Given the description of an element on the screen output the (x, y) to click on. 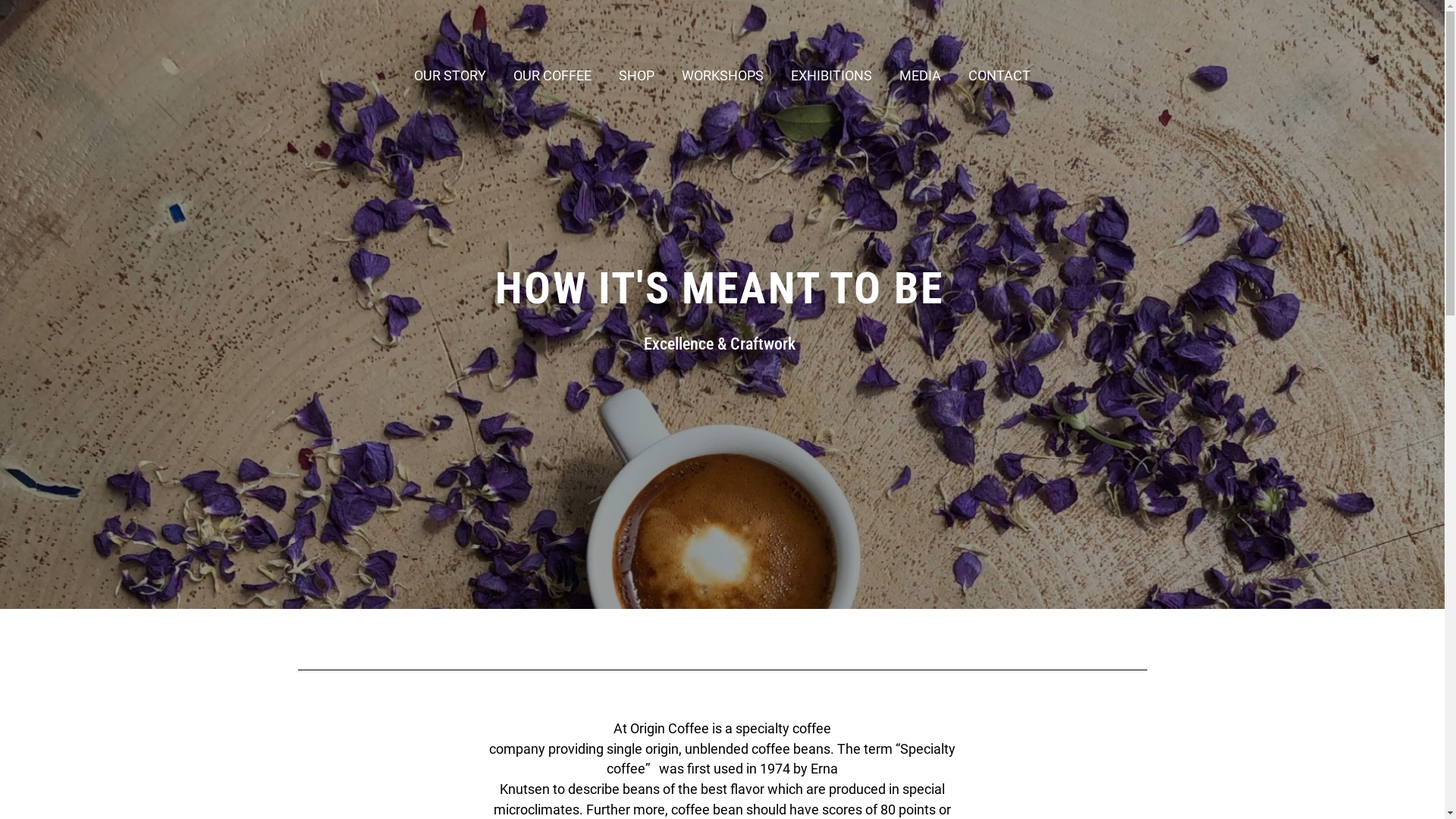
EXHIBITIONS Element type: text (831, 75)
OUR STORY Element type: text (449, 75)
SHOP Element type: text (636, 75)
MEDIA Element type: text (919, 75)
OUR COFFEE Element type: text (552, 75)
CONTACT Element type: text (999, 75)
WORKSHOPS Element type: text (722, 75)
